Given the description of an element on the screen output the (x, y) to click on. 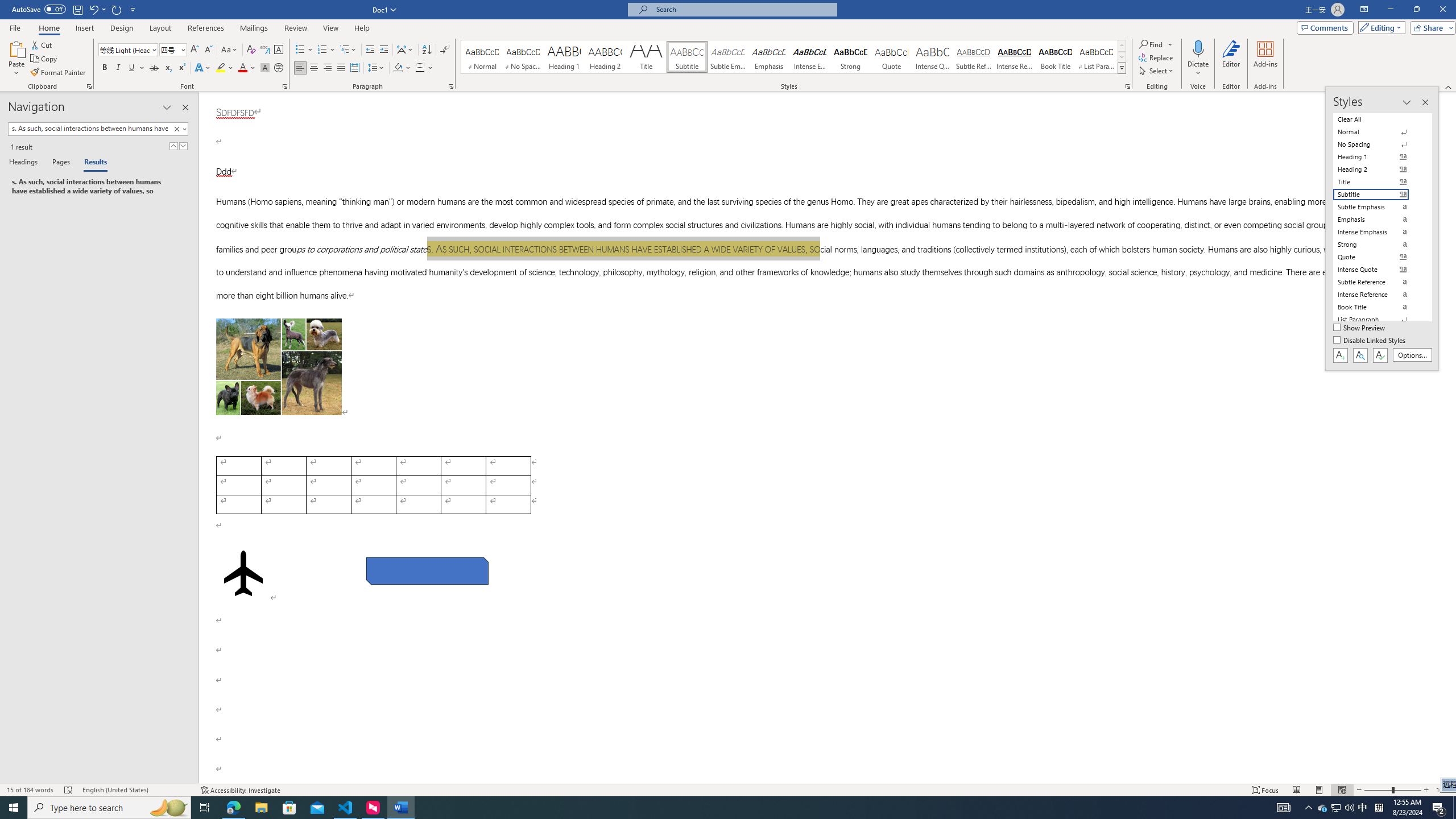
Quick Access Toolbar (74, 9)
AutomationID: QuickStylesGallery (794, 56)
Clear All (1377, 119)
Text Effects and Typography (202, 67)
Language English (United States) (136, 790)
No Spacing (1377, 144)
Layout (160, 28)
Intense Emphasis (809, 56)
Home (48, 28)
Microsoft search (742, 9)
Customize Quick Access Toolbar (133, 9)
Paragraph... (450, 85)
View (330, 28)
Zoom Out (1377, 790)
